Given the description of an element on the screen output the (x, y) to click on. 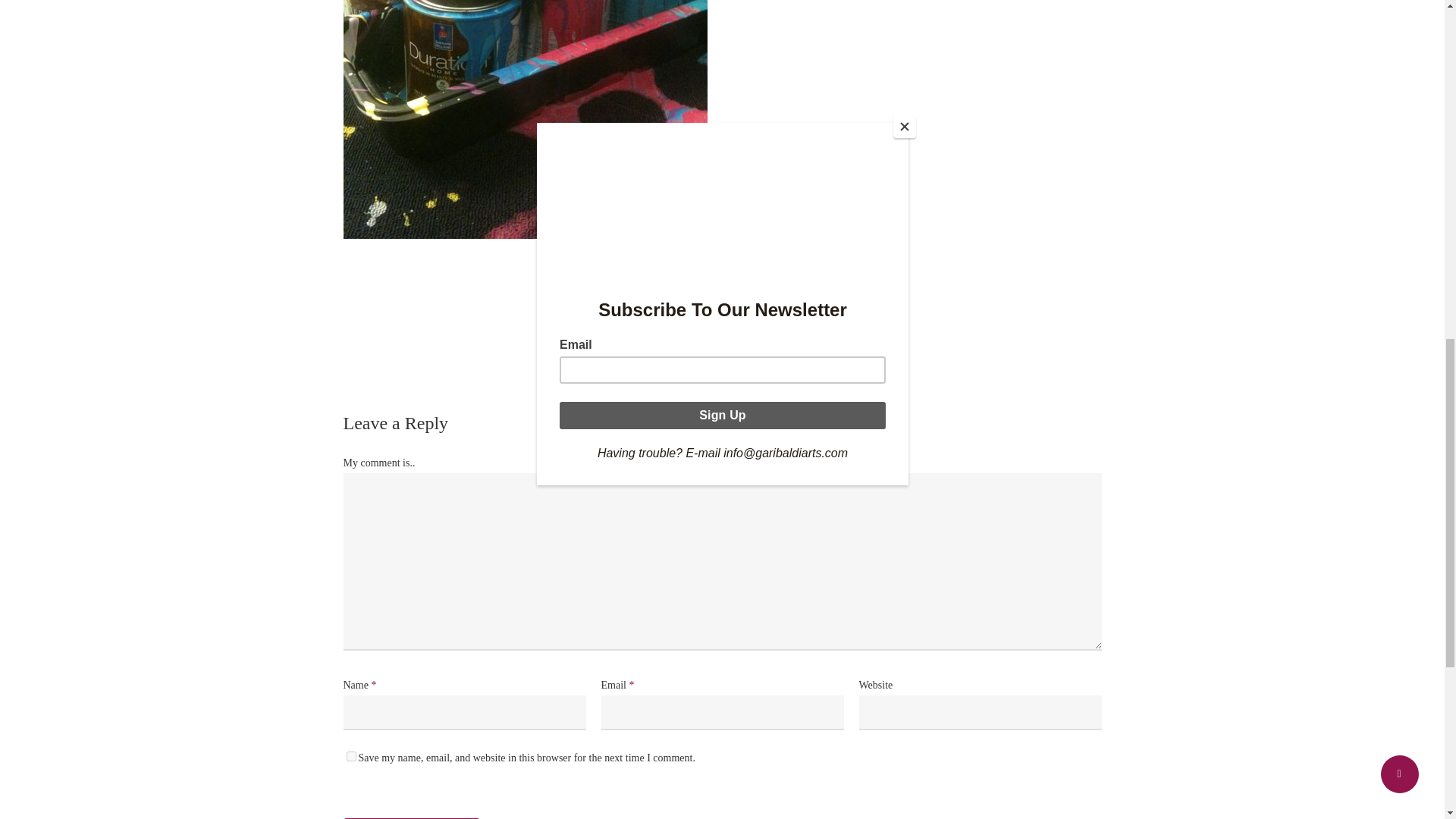
yes (350, 756)
